Given the description of an element on the screen output the (x, y) to click on. 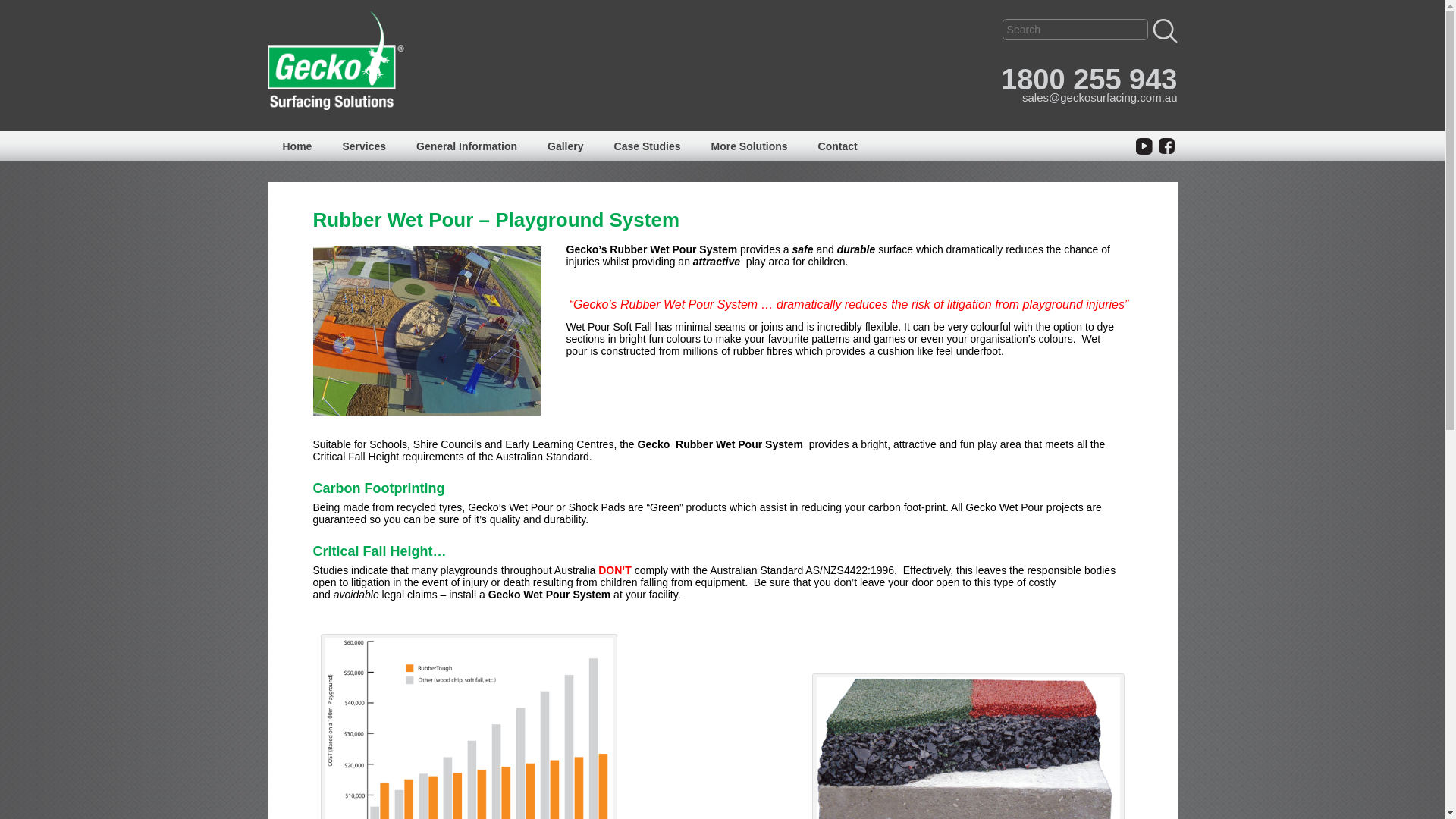
1800 255 943 Element type: text (1088, 79)
Home Element type: text (296, 146)
Services Element type: text (363, 146)
Contact Element type: text (837, 146)
More Solutions Element type: text (748, 146)
Facebook Element type: text (1166, 145)
sales@geckosurfacing.com.au Element type: text (1099, 97)
YouTube Element type: text (1143, 146)
Gallery Element type: text (565, 146)
General Information Element type: text (466, 146)
Case Studies Element type: text (647, 146)
